Given the description of an element on the screen output the (x, y) to click on. 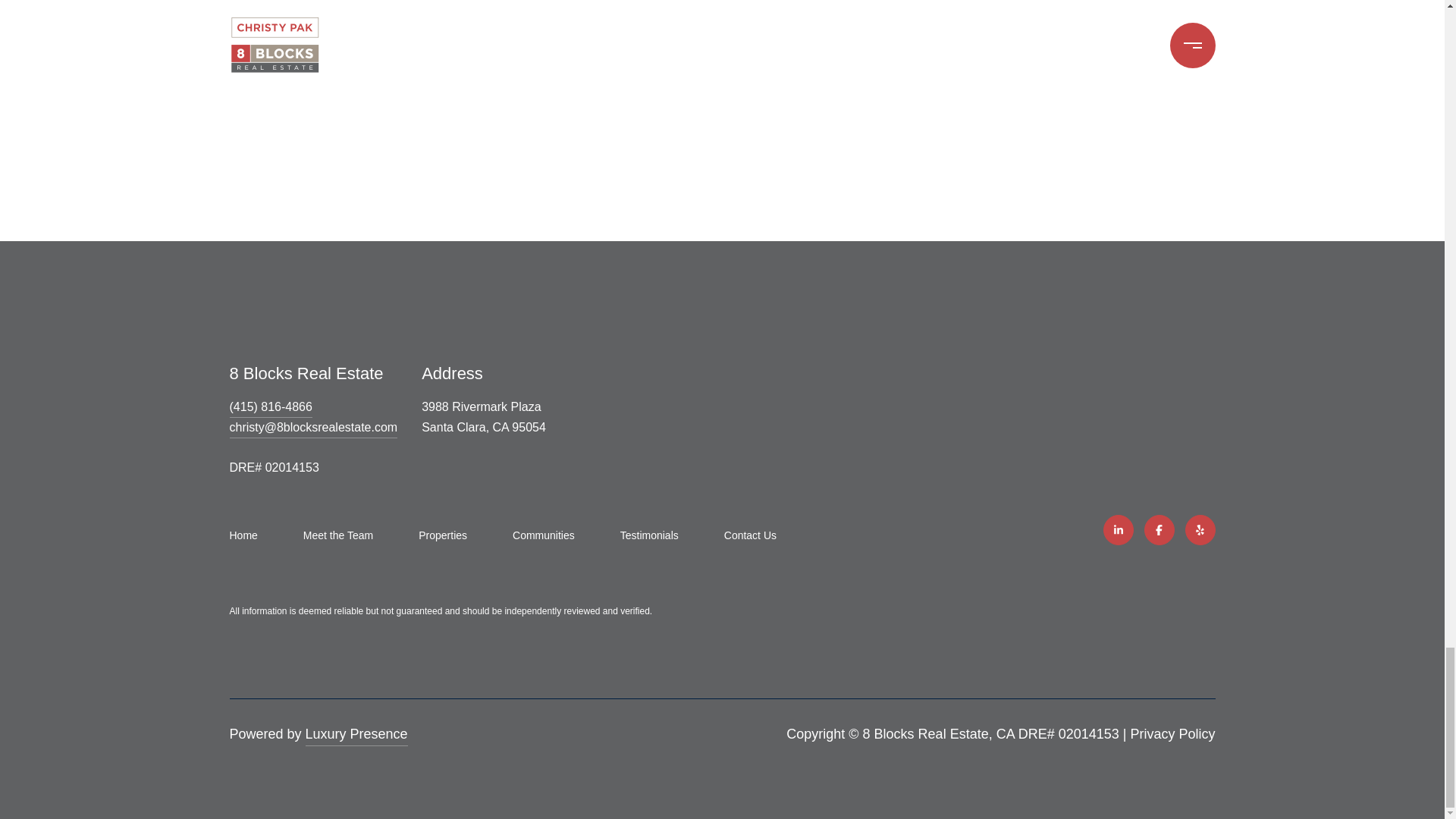
email (312, 427)
